Given the description of an element on the screen output the (x, y) to click on. 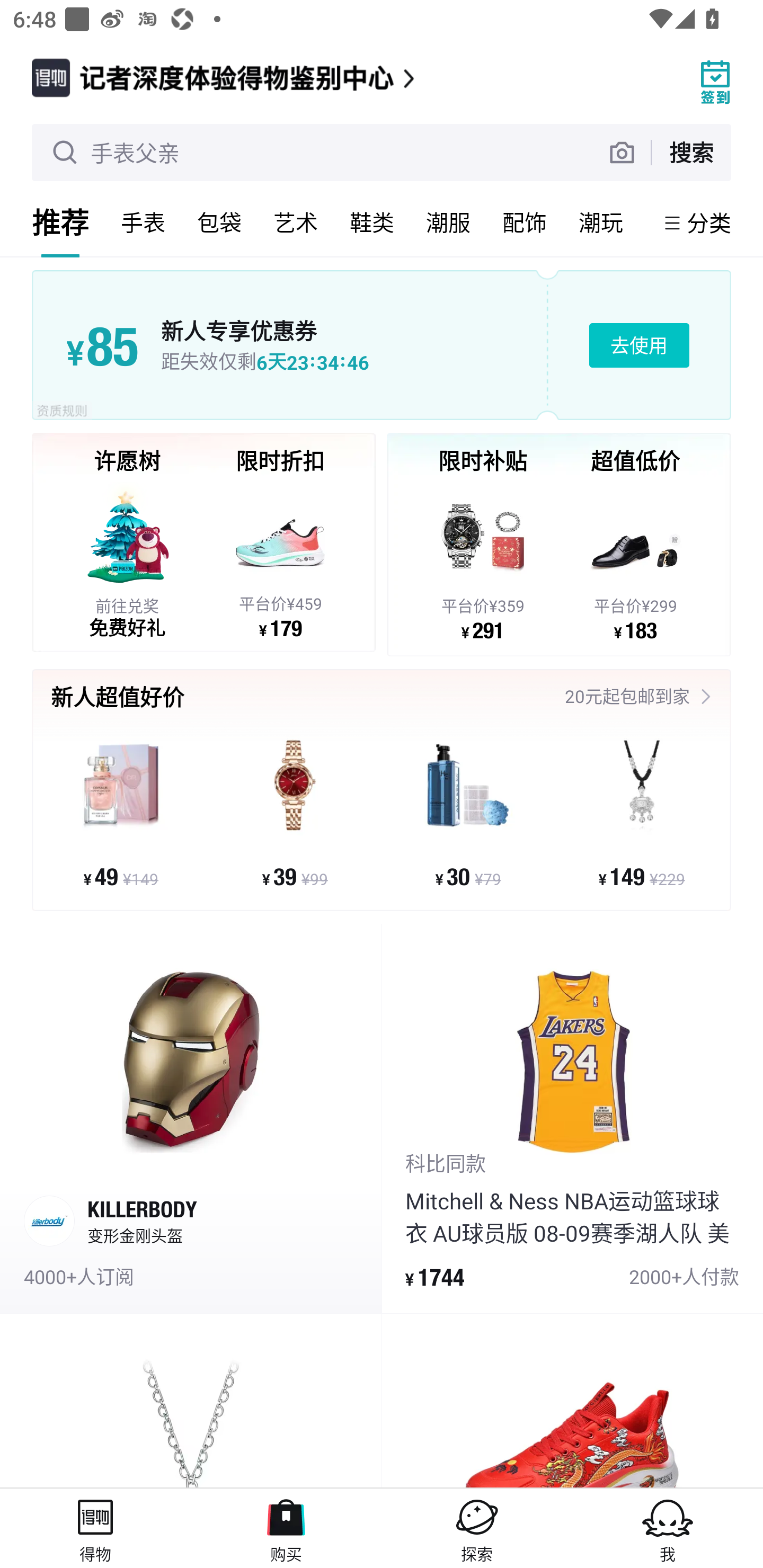
搜索 (690, 152)
推荐 (60, 222)
手表 (143, 222)
包袋 (219, 222)
艺术 (295, 222)
鞋类 (372, 222)
潮服 (448, 222)
配饰 (524, 222)
潮玩 (601, 222)
分类 (708, 222)
平台价¥459 ¥ 179 (279, 559)
前往兑奖 免费好礼 (127, 559)
平台价¥359 ¥ 291 (482, 560)
平台价¥299 ¥ 183 (635, 560)
¥ 49 ¥149 (121, 813)
¥ 39 ¥99 (294, 813)
¥ 30 ¥79 (468, 813)
¥ 149 ¥229 (641, 813)
KILLERBODY 变形金刚头盔 4000+人订阅 (190, 1118)
product_item (190, 1400)
得物 (95, 1528)
购买 (285, 1528)
探索 (476, 1528)
我 (667, 1528)
